Given the description of an element on the screen output the (x, y) to click on. 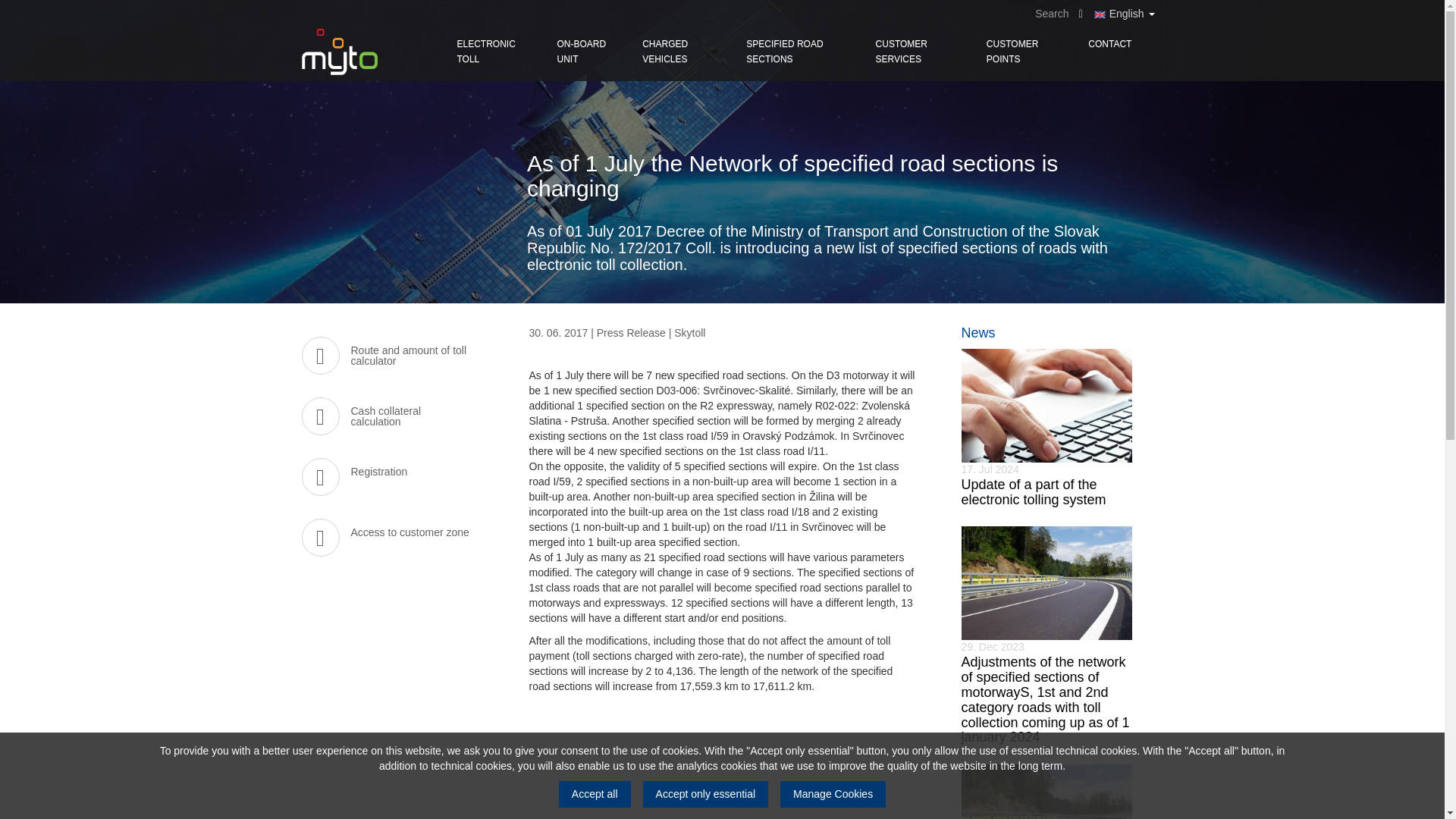
English (1131, 13)
CHARGED VEHICLES (682, 51)
SPECIFIED ROAD SECTIONS (799, 51)
ON-BOARD UNIT (588, 51)
ELECTRONIC TOLL (495, 51)
CUSTOMER SERVICES (919, 51)
Home (339, 51)
